Given the description of an element on the screen output the (x, y) to click on. 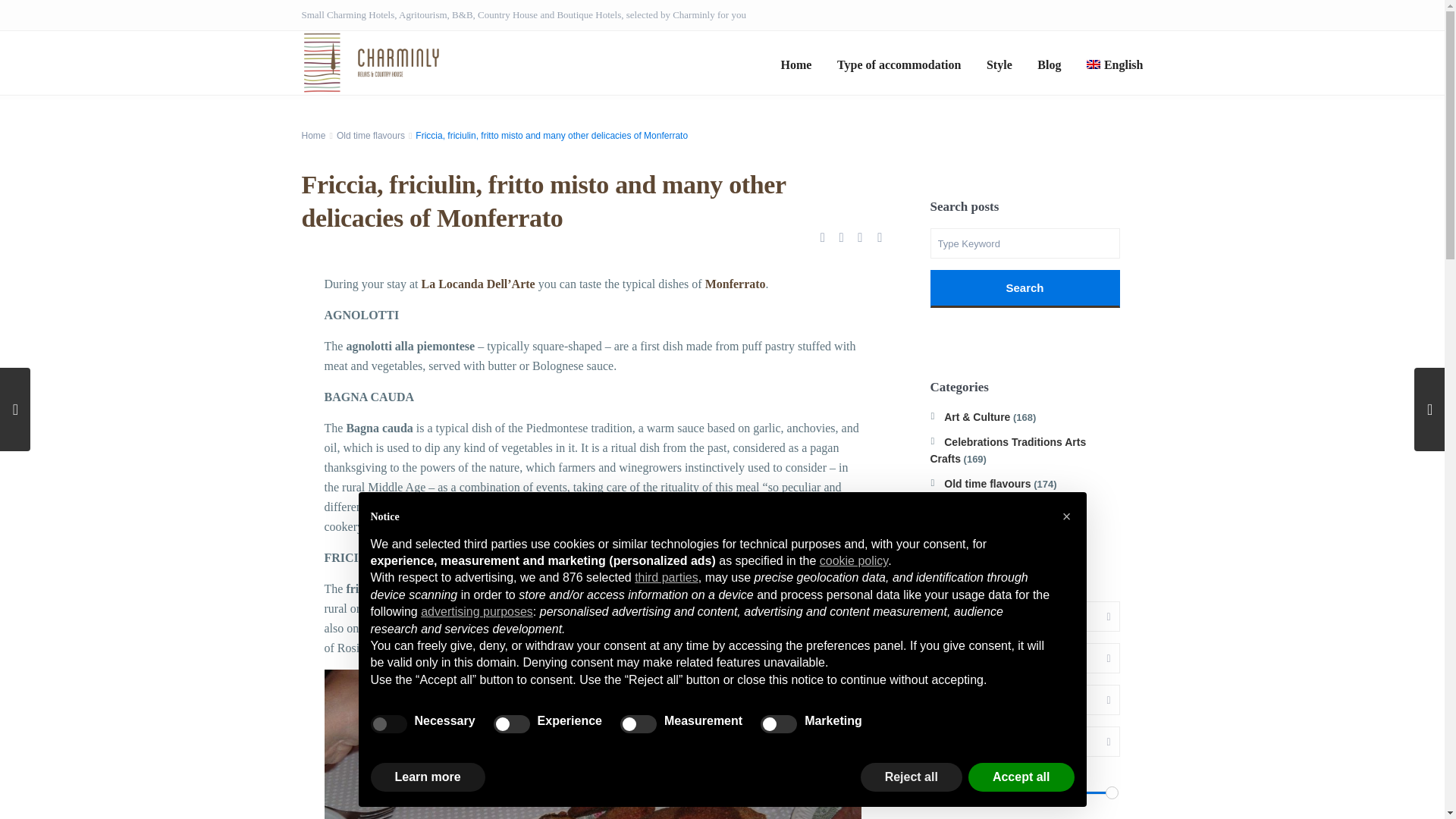
English (1114, 65)
true (387, 723)
false (778, 723)
false (511, 723)
false (638, 723)
